Given the description of an element on the screen output the (x, y) to click on. 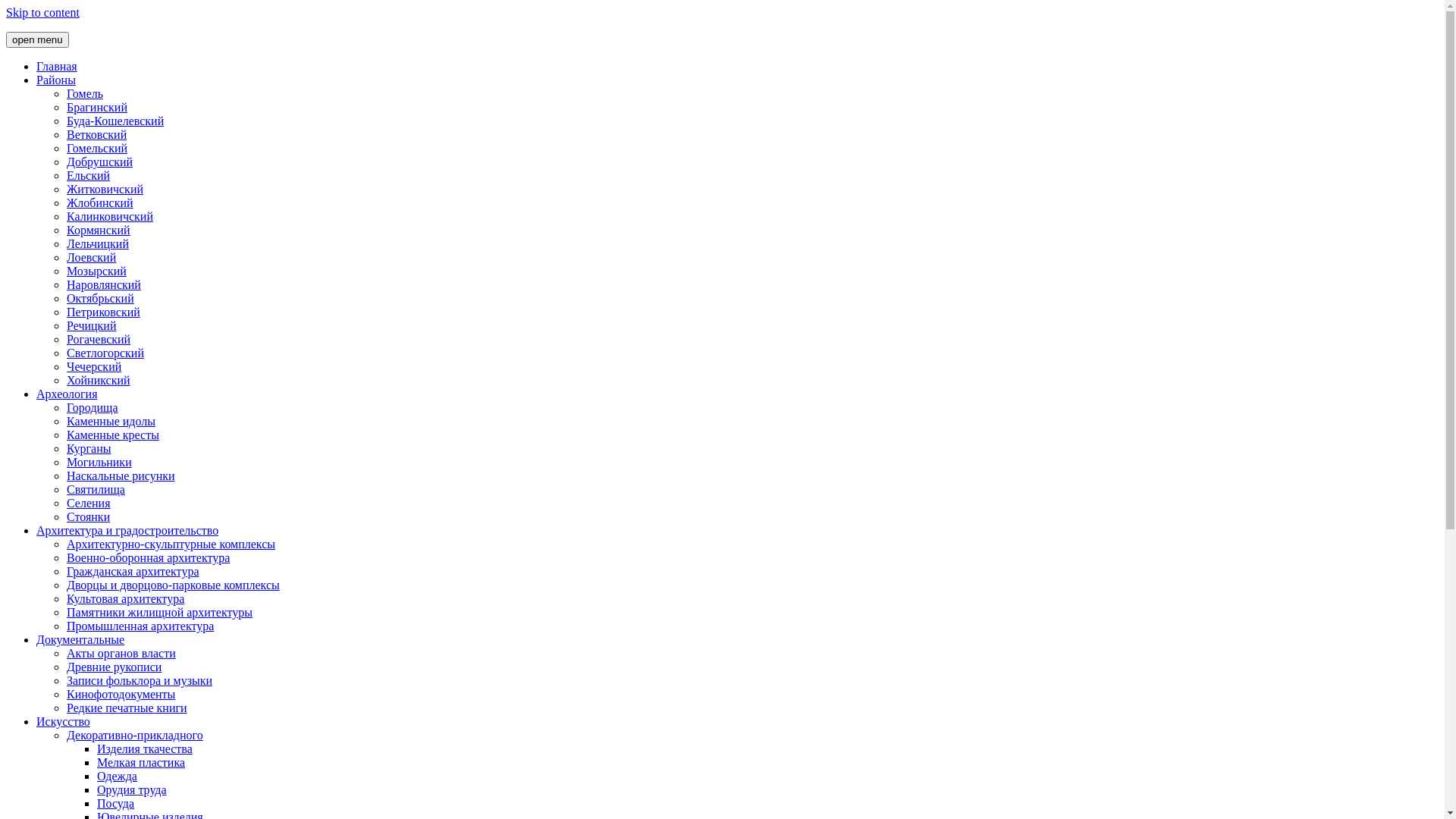
Skip to content Element type: text (42, 12)
open menu Element type: text (37, 39)
